Given the description of an element on the screen output the (x, y) to click on. 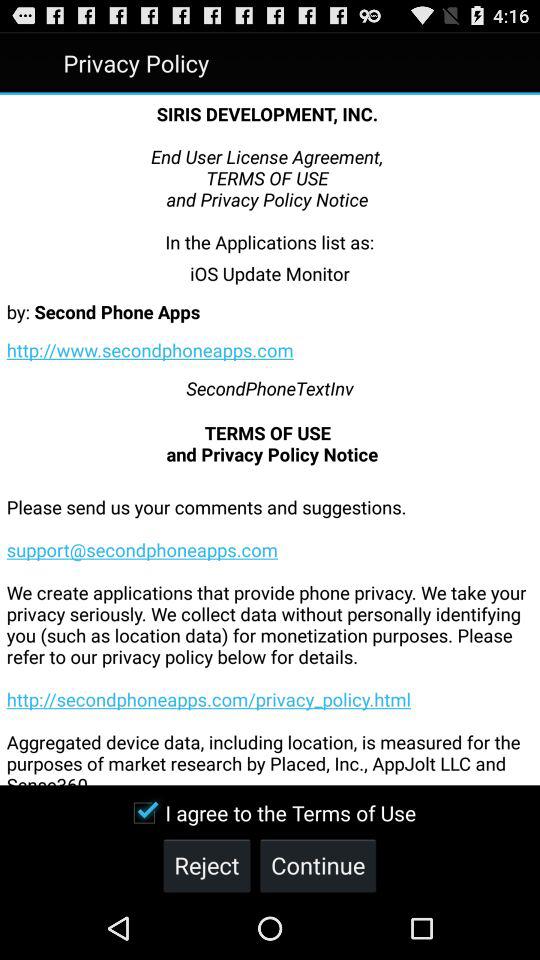
scroll until the reject icon (206, 864)
